Given the description of an element on the screen output the (x, y) to click on. 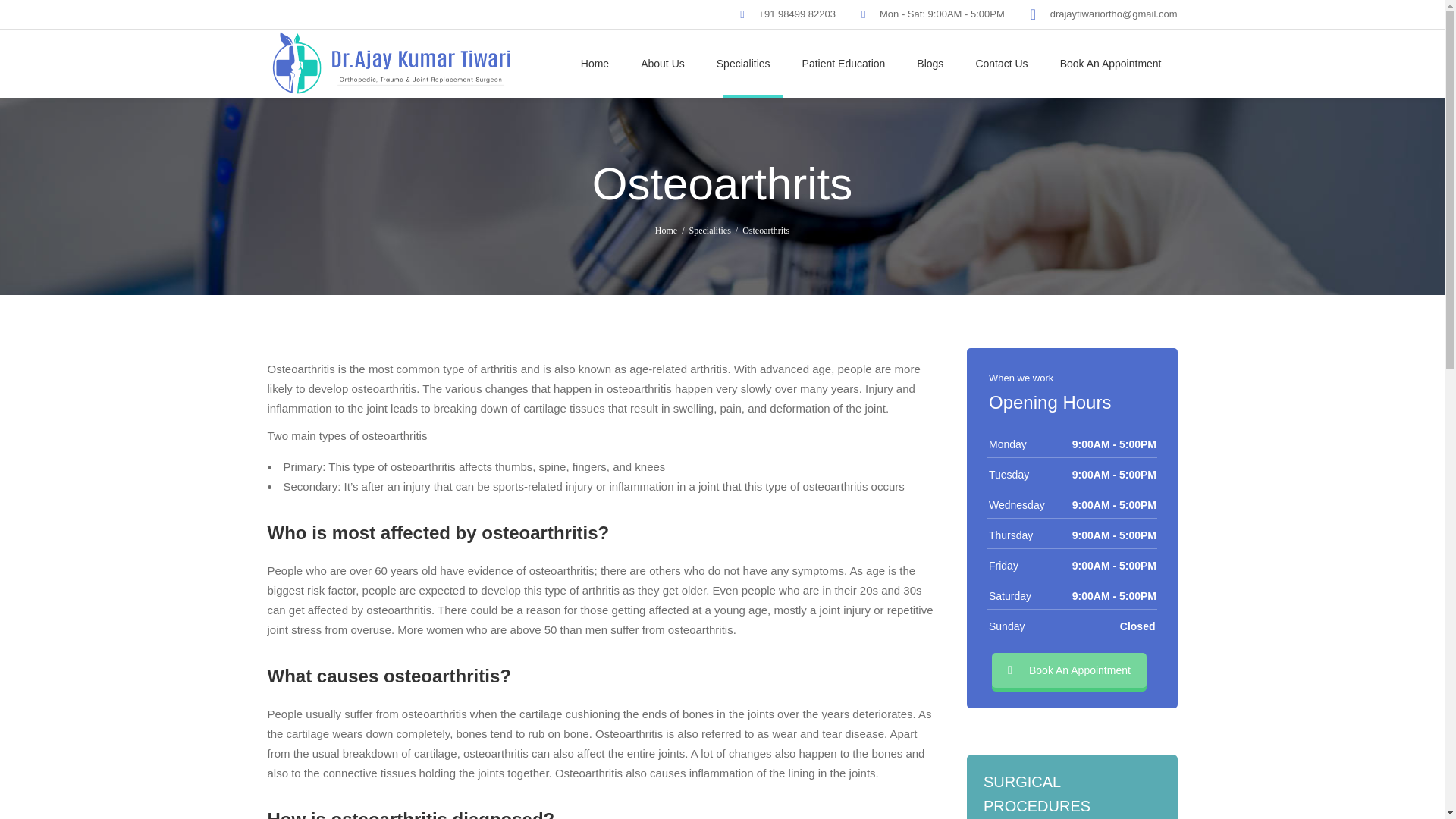
Book An Appointment (1110, 63)
Mon - Sat: 9:00AM - 5:00PM (941, 14)
Patient Education (843, 63)
Specialities (743, 63)
Contact Us (1001, 63)
About Us (662, 63)
